Given the description of an element on the screen output the (x, y) to click on. 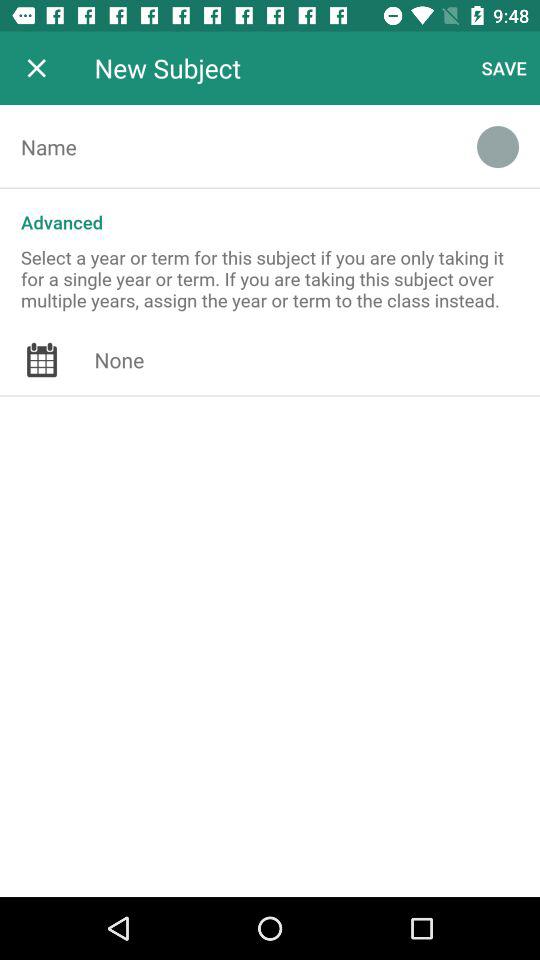
select the app next to the new subject icon (36, 68)
